Given the description of an element on the screen output the (x, y) to click on. 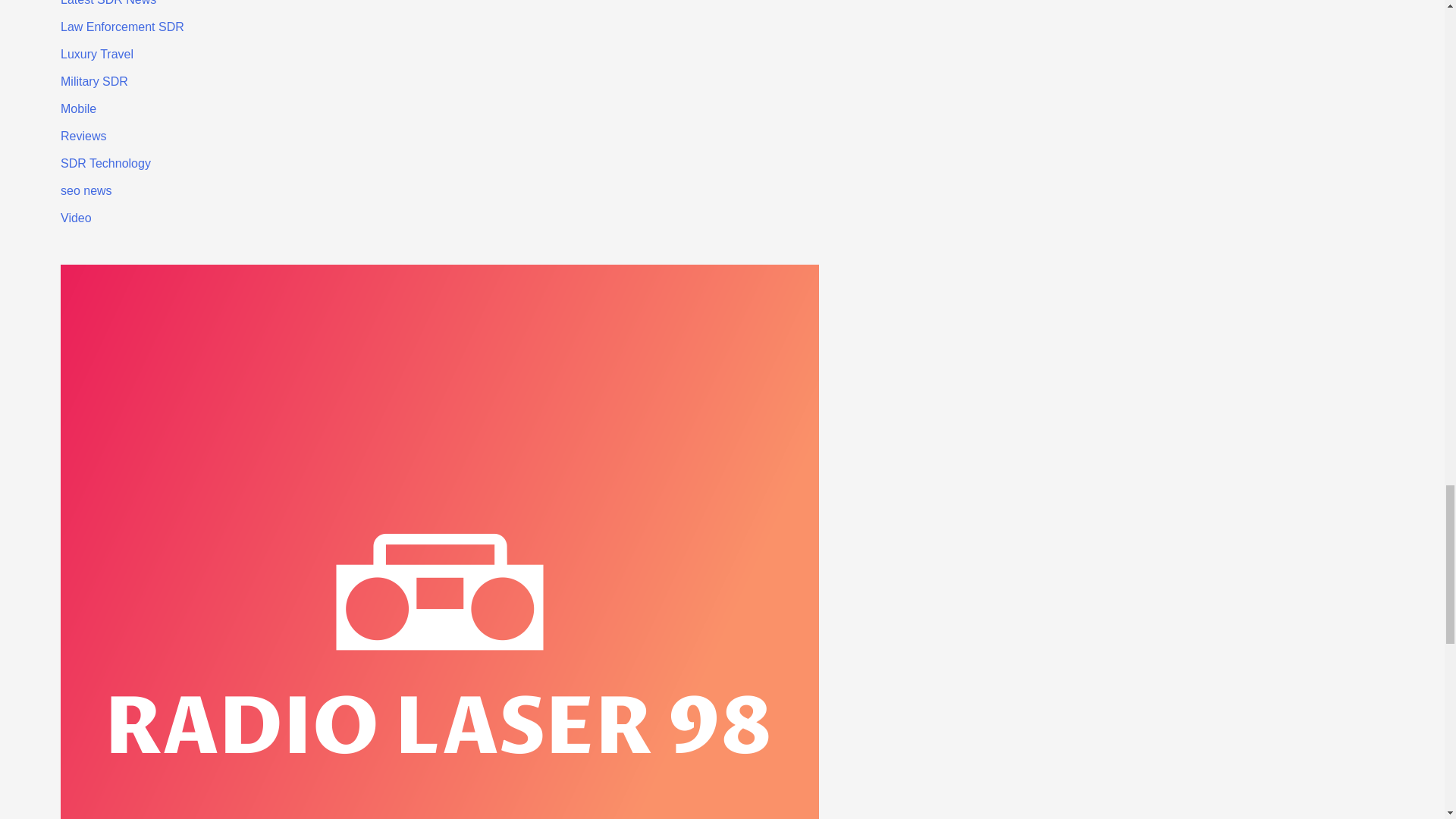
SDR Technology (106, 163)
Law Enforcement SDR (122, 26)
Reviews (83, 135)
Military SDR (94, 81)
Luxury Travel (97, 53)
seo news (86, 190)
Latest SDR News (108, 2)
Mobile (78, 108)
